Given the description of an element on the screen output the (x, y) to click on. 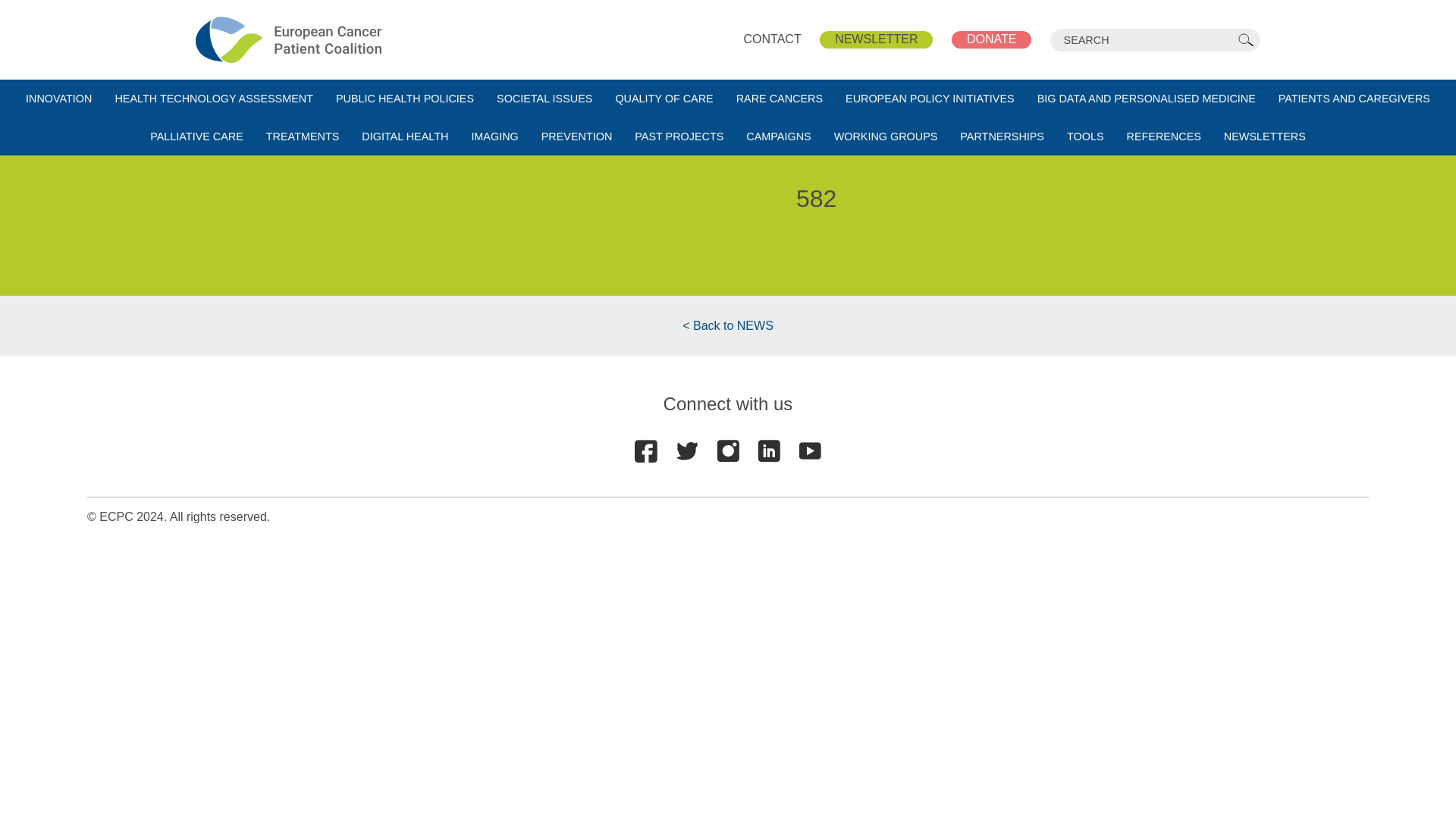
Back to News (727, 325)
REFERENCES (1163, 136)
INNOVATION (58, 98)
RARE CANCERS (779, 98)
SOCIETAL ISSUES (544, 98)
DIGITAL HEALTH (405, 136)
PARTNERSHIPS (1002, 136)
Subscribe to our newsletter (876, 39)
CONTACT (773, 38)
TOOLS (1085, 136)
EUROPEAN POLICY INITIATIVES (930, 98)
PAST PROJECTS (679, 136)
Search (1245, 39)
CAMPAIGNS (778, 136)
Donate now (991, 39)
